Given the description of an element on the screen output the (x, y) to click on. 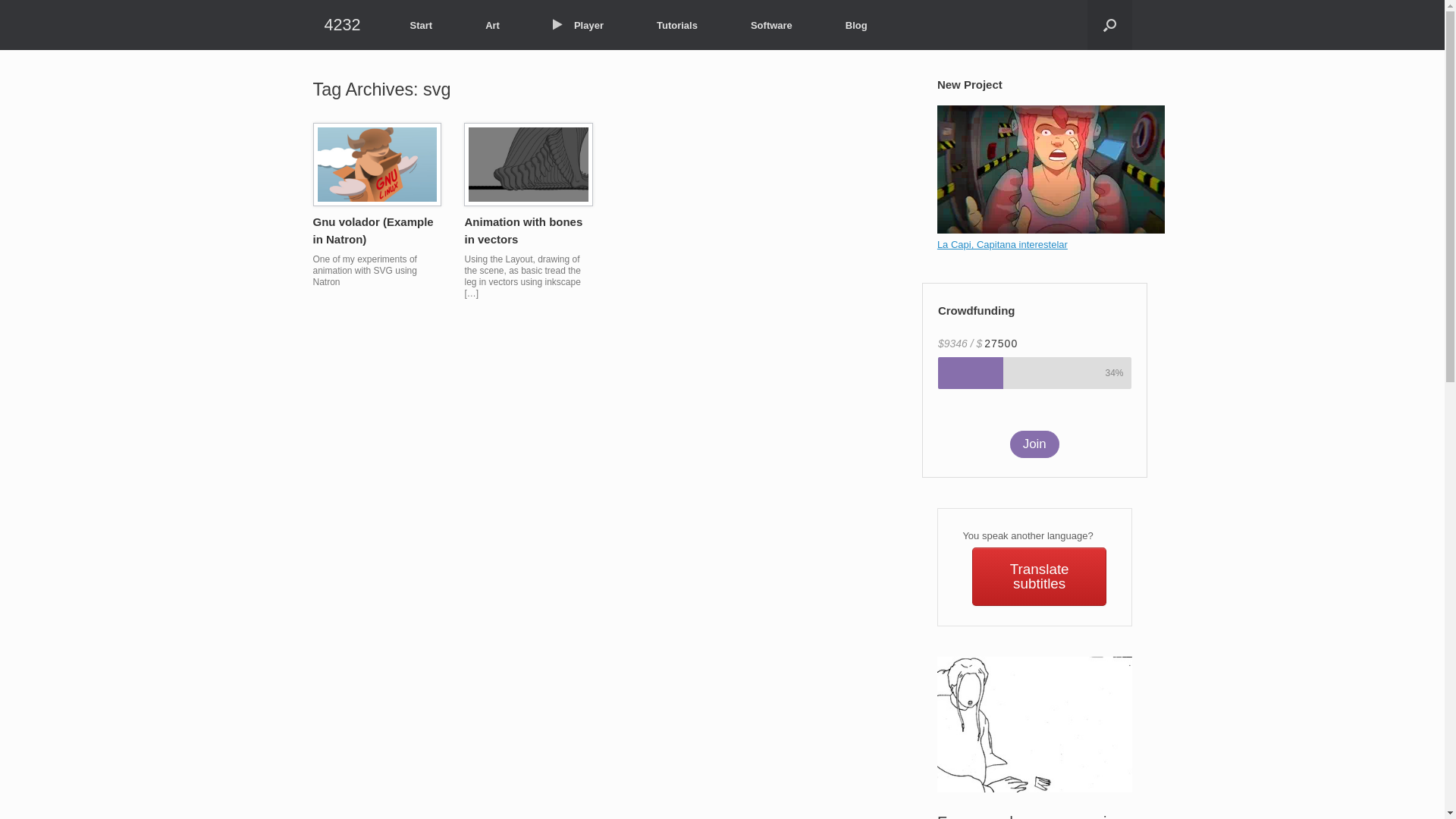
4232 Element type: text (341, 25)
Art Element type: text (492, 25)
Tutorials Element type: text (677, 25)
Start Element type: text (421, 25)
Player Element type: text (578, 25)
La Capi, Capitana interestelar Element type: text (1002, 244)
Translate subtitles Element type: text (1039, 576)
Gnu volador (Example in Natron) Element type: text (372, 230)
Blog Element type: text (856, 25)
Software Element type: text (771, 25)
Join Element type: text (1034, 444)
Animation with bones in vectors Element type: text (523, 230)
